Given the description of an element on the screen output the (x, y) to click on. 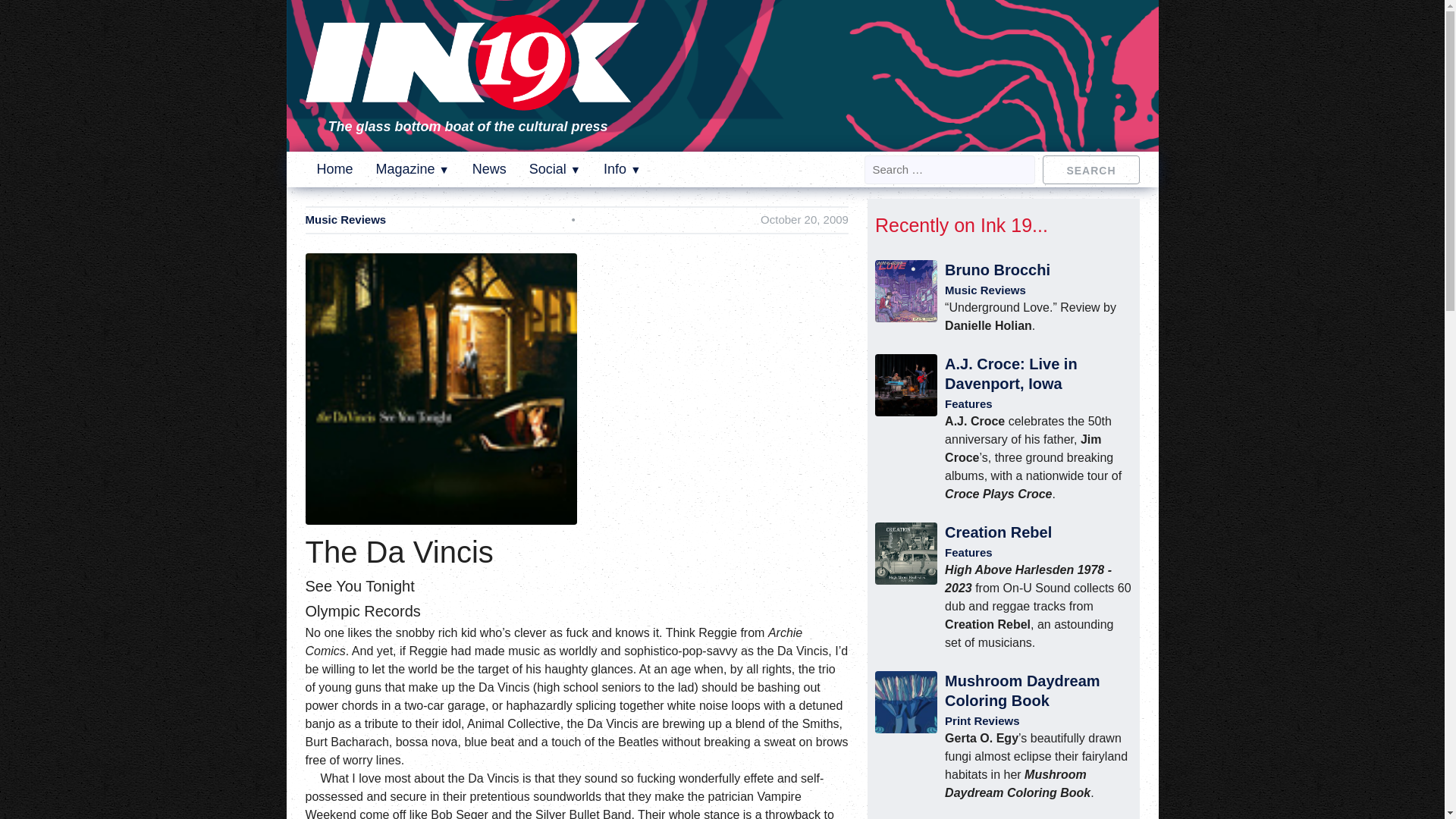
Magazine (412, 168)
Search (1090, 168)
Search (1090, 168)
Info (622, 168)
Music Reviews (344, 220)
Search (1090, 168)
Home (335, 168)
Social (554, 168)
Ink 19 (471, 100)
News (488, 168)
